Given the description of an element on the screen output the (x, y) to click on. 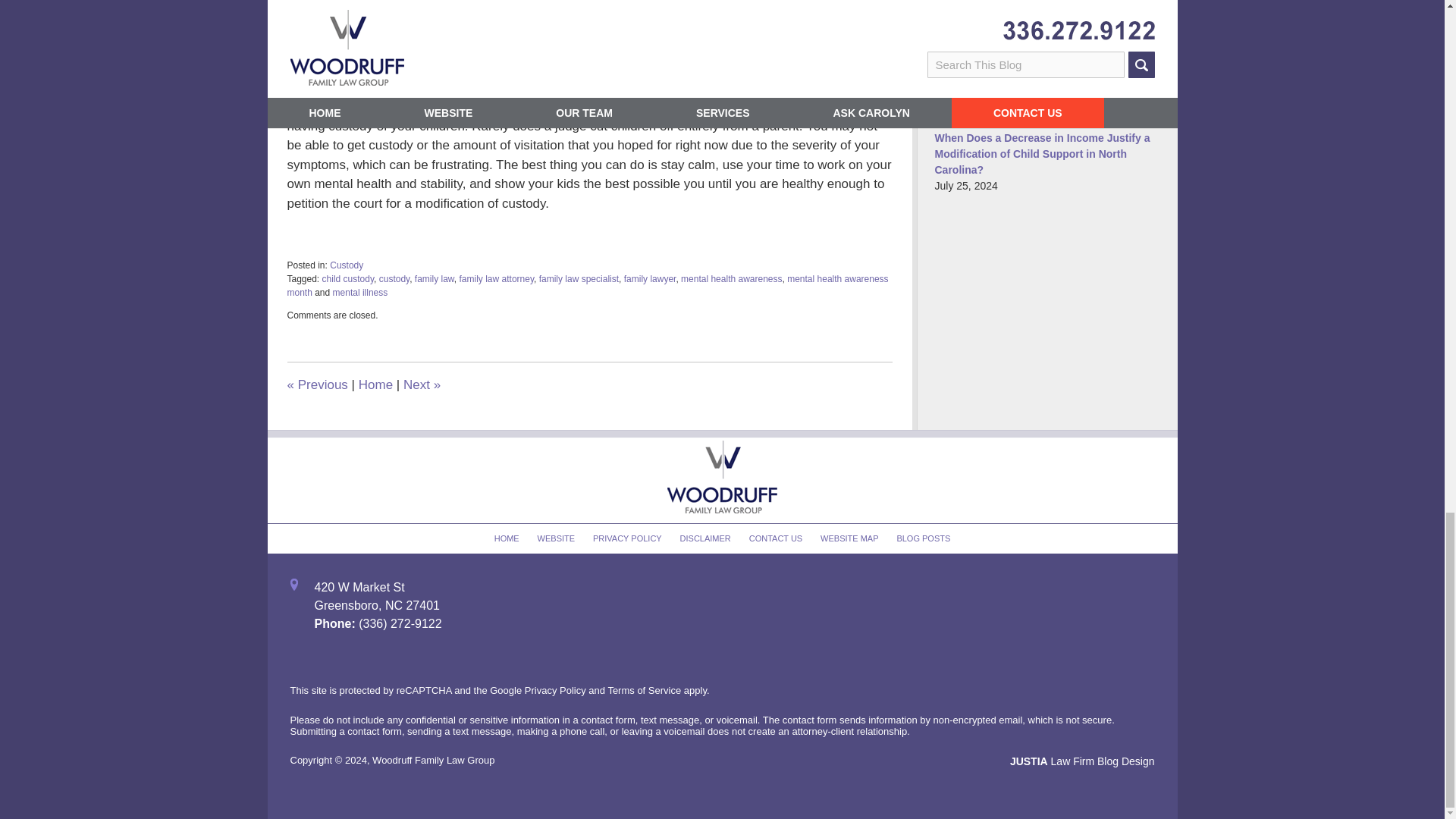
family law specialist (578, 278)
Custody (346, 265)
View all posts tagged with child custody (347, 278)
View all posts tagged with mental health awareness month (587, 285)
family lawyer (650, 278)
Home (375, 384)
family law attorney (497, 278)
Surrogacy, Part 1: Legal Parentage (422, 384)
View all posts tagged with mental health awareness (731, 278)
View all posts tagged with family law specialist (578, 278)
View all posts tagged with mental illness (360, 292)
mental illness (360, 292)
View all posts tagged with family law attorney (497, 278)
custody (393, 278)
View all posts tagged with family lawyer (650, 278)
